Given the description of an element on the screen output the (x, y) to click on. 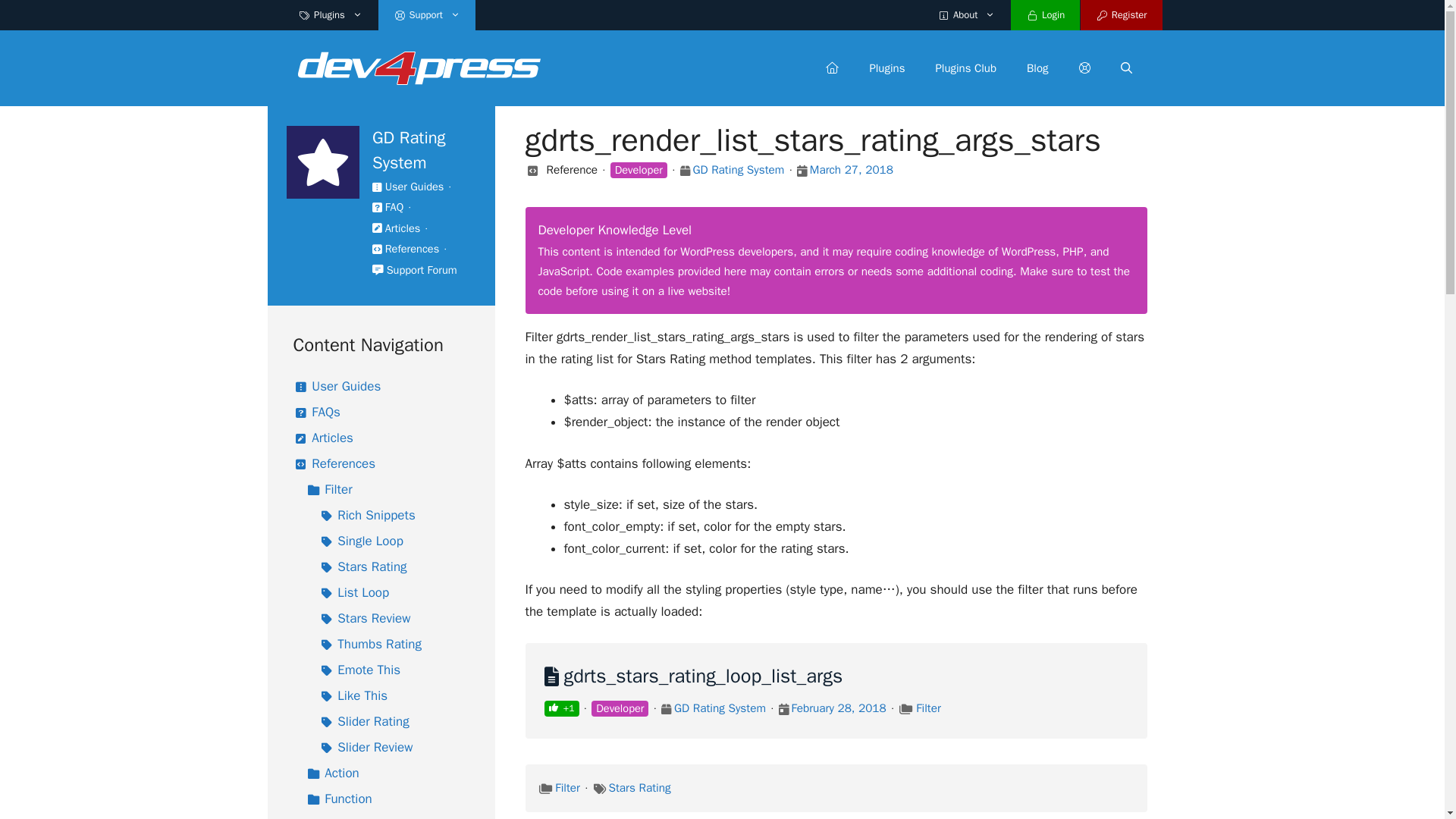
Plugins (886, 67)
Plugins Club (965, 67)
Tag (598, 789)
Register (1120, 15)
Support (1083, 67)
Posted on (801, 170)
Plugins (330, 15)
Product (666, 709)
Dev4Press Support (418, 66)
Topic (905, 709)
Support (427, 15)
About (965, 15)
Login (1045, 15)
Product (684, 170)
Posted on (783, 709)
